Given the description of an element on the screen output the (x, y) to click on. 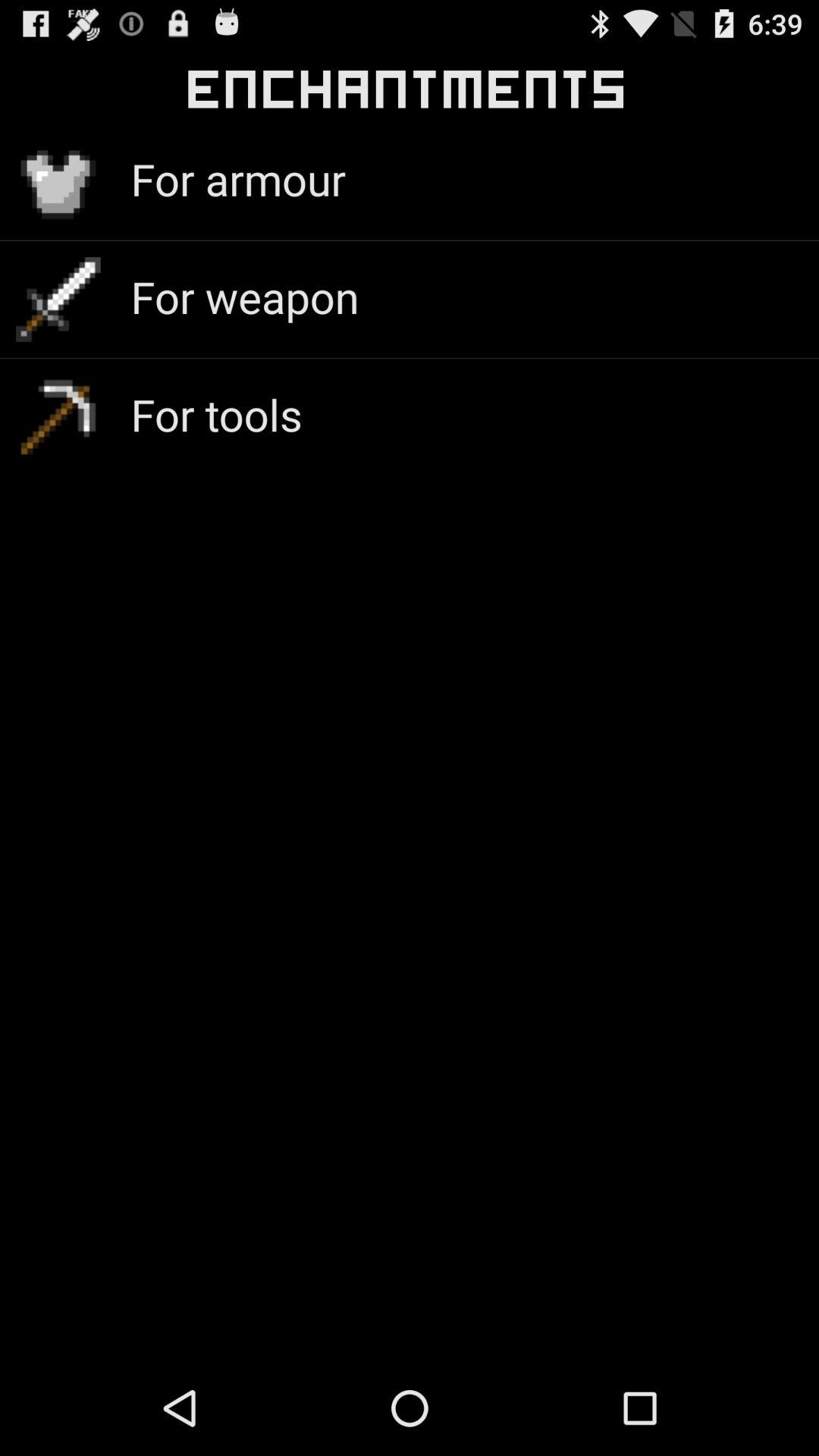
select for armour icon (237, 178)
